Given the description of an element on the screen output the (x, y) to click on. 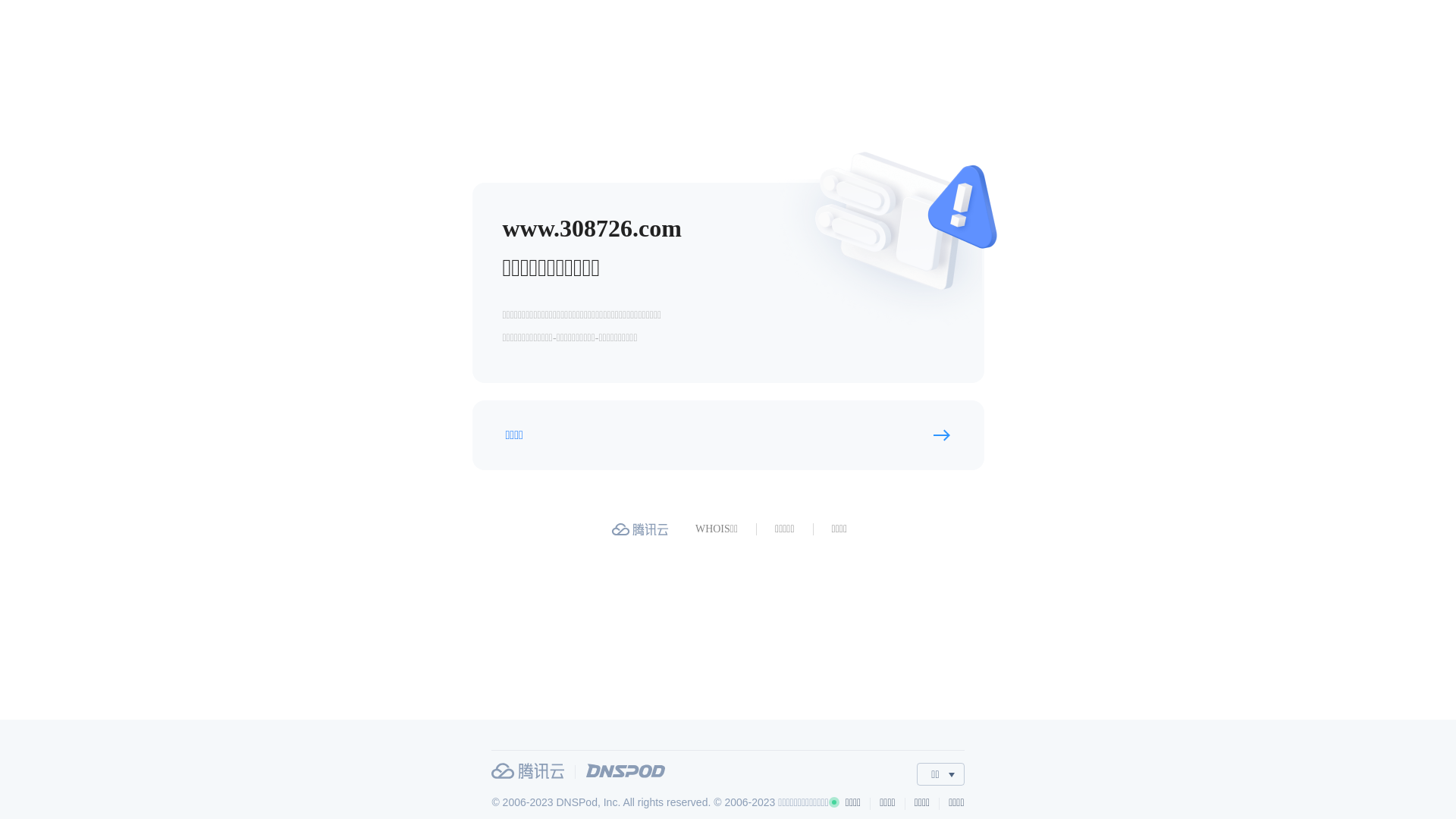
DNSPod Element type: text (625, 770)
